Given the description of an element on the screen output the (x, y) to click on. 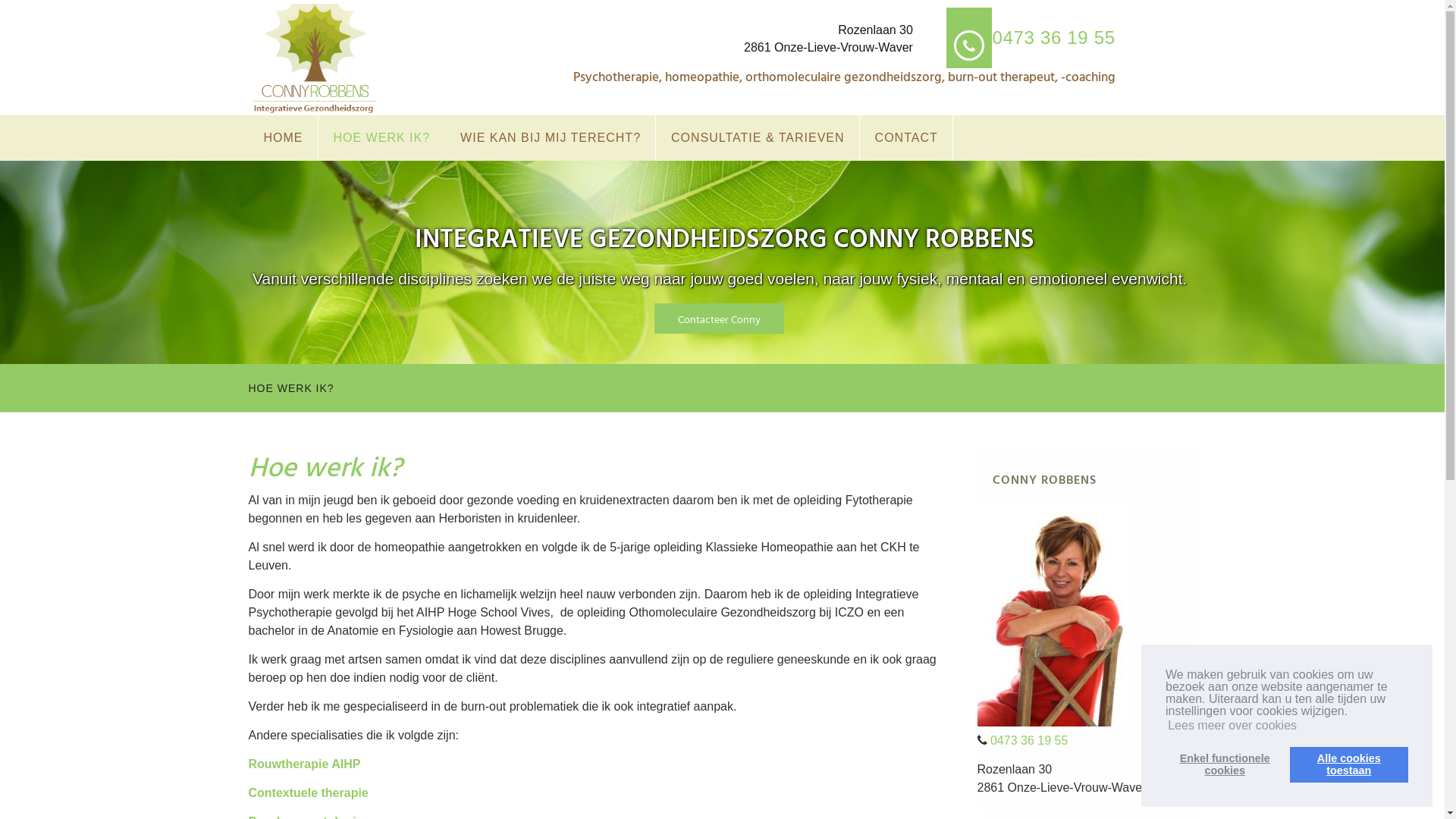
Contacteer Conny Element type: text (718, 318)
0473 36 19 55 Element type: text (1028, 740)
CONSULTATIE & TARIEVEN Element type: text (757, 137)
HOE WERK IK? Element type: text (291, 388)
Alle cookies
toestaan Element type: text (1348, 764)
HOE WERK IK? Element type: text (381, 137)
CONTACT Element type: text (906, 137)
Lees meer over cookies Element type: text (1232, 725)
Enkel functionele
cookies Element type: text (1224, 764)
HOME Element type: text (283, 137)
WIE KAN BIJ MIJ TERECHT? Element type: text (550, 137)
0473 36 19 55 Element type: text (1052, 37)
